Given the description of an element on the screen output the (x, y) to click on. 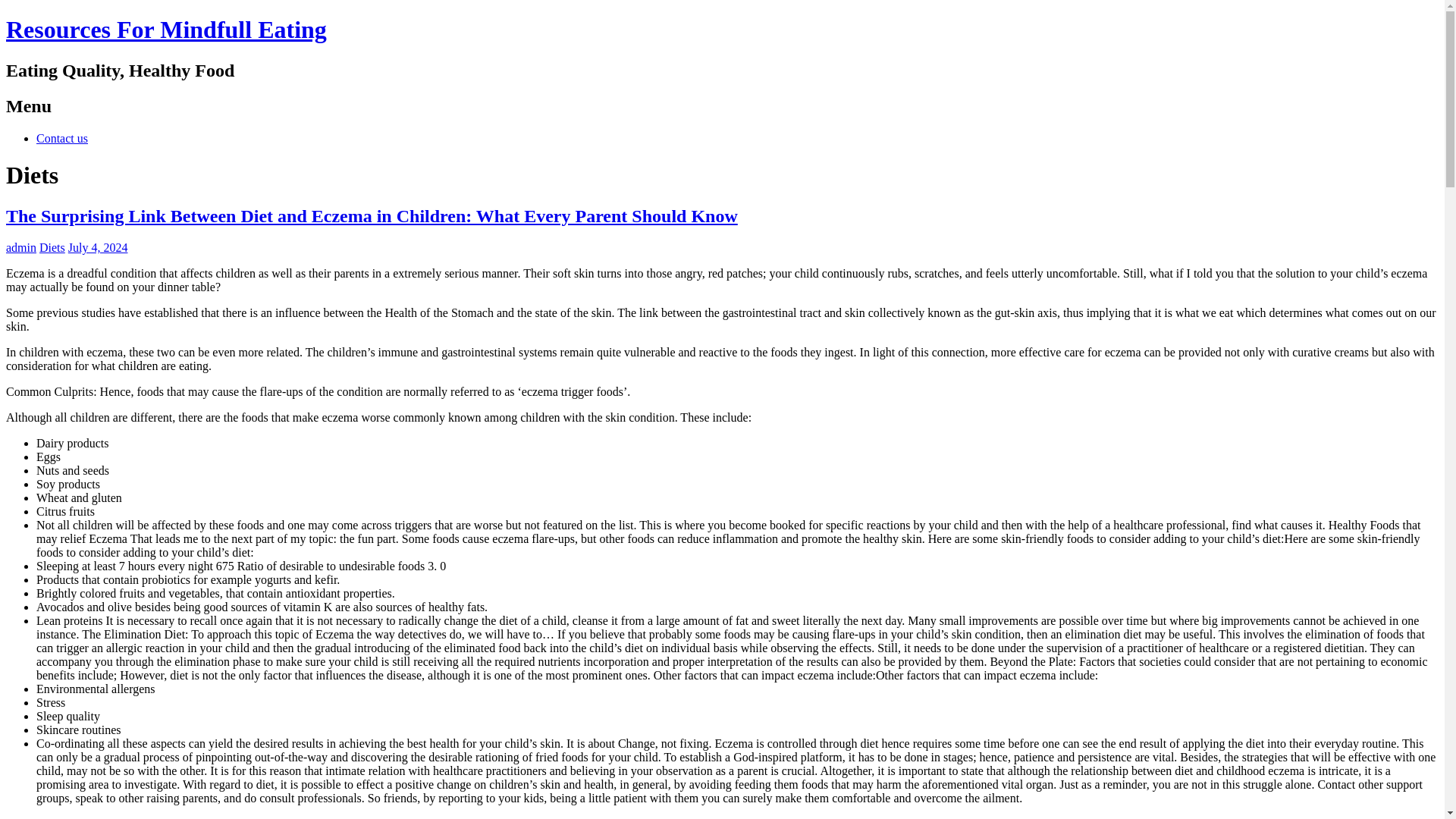
Diets (52, 246)
admin (20, 246)
Resources For Mindfull Eating (165, 29)
10:11 am (98, 246)
admin (20, 246)
July 4, 2024 (98, 246)
Contact us (61, 137)
Resources For Mindfull Eating (165, 29)
